Given the description of an element on the screen output the (x, y) to click on. 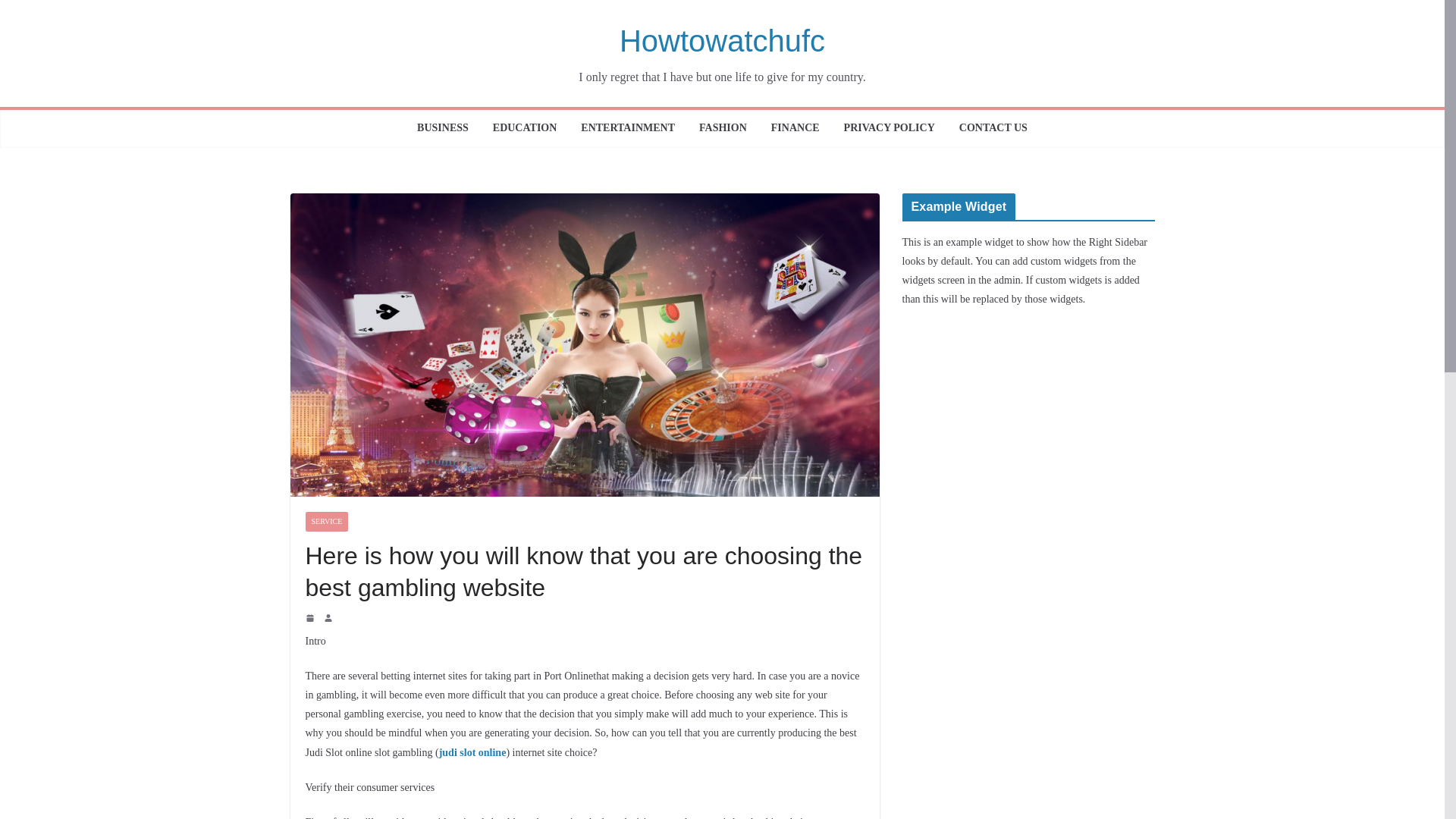
EDUCATION (525, 128)
Howtowatchufc (722, 40)
FASHION (722, 128)
Howtowatchufc (722, 40)
SERVICE (325, 521)
judi slot online (472, 752)
CONTACT US (993, 128)
ENTERTAINMENT (627, 128)
BUSINESS (442, 128)
FINANCE (795, 128)
